Given the description of an element on the screen output the (x, y) to click on. 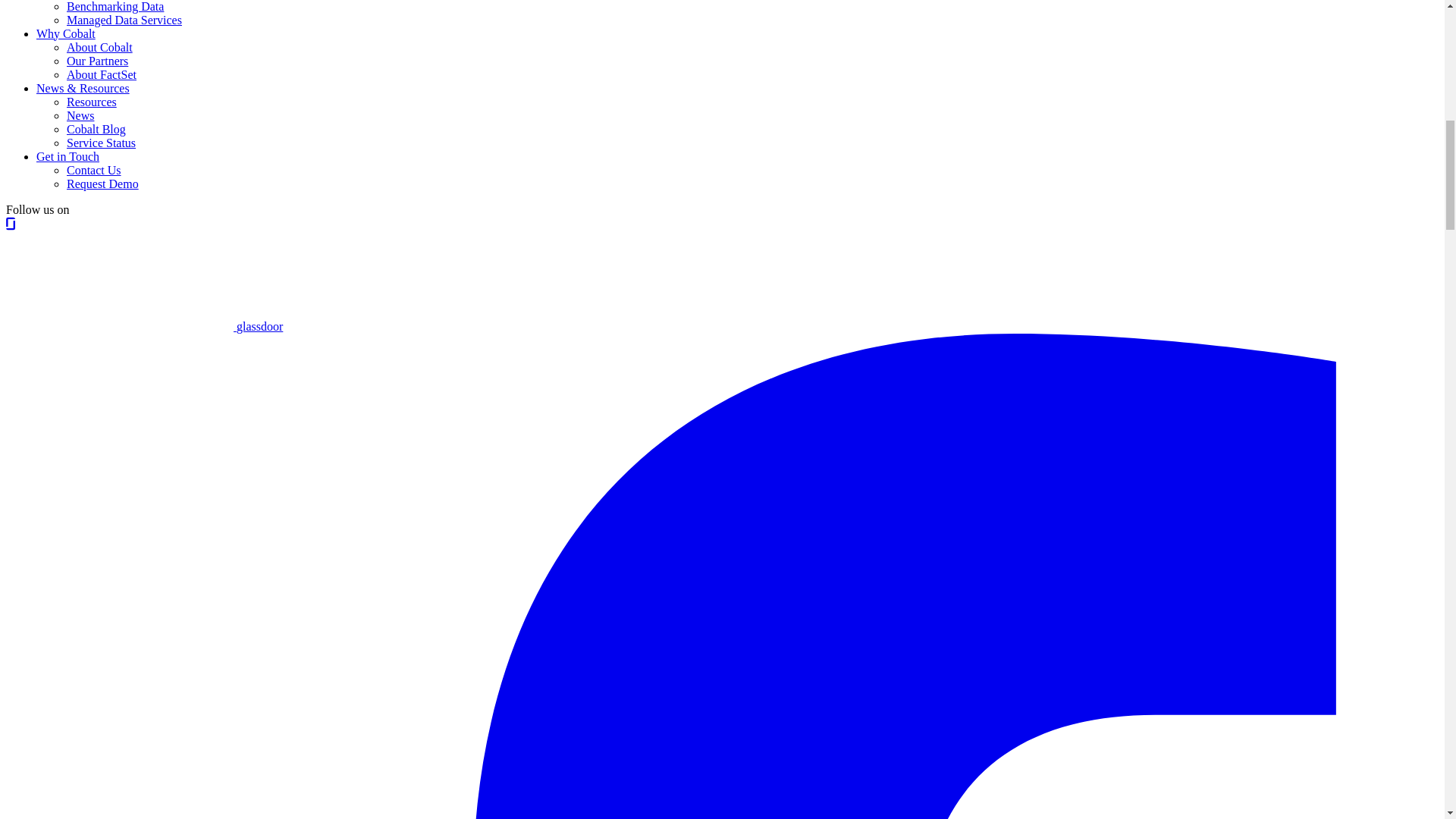
Contact Us (93, 169)
Cobalt Blog (95, 128)
Why Cobalt (66, 33)
Managed Data Services (124, 19)
Our Partners (97, 60)
About Cobalt (99, 47)
Resources (91, 101)
Request Demo (102, 183)
About FactSet (101, 74)
Service Status (100, 142)
News (80, 115)
glassdoor (143, 326)
Benchmarking Data (114, 6)
Get in Touch (67, 155)
